Given the description of an element on the screen output the (x, y) to click on. 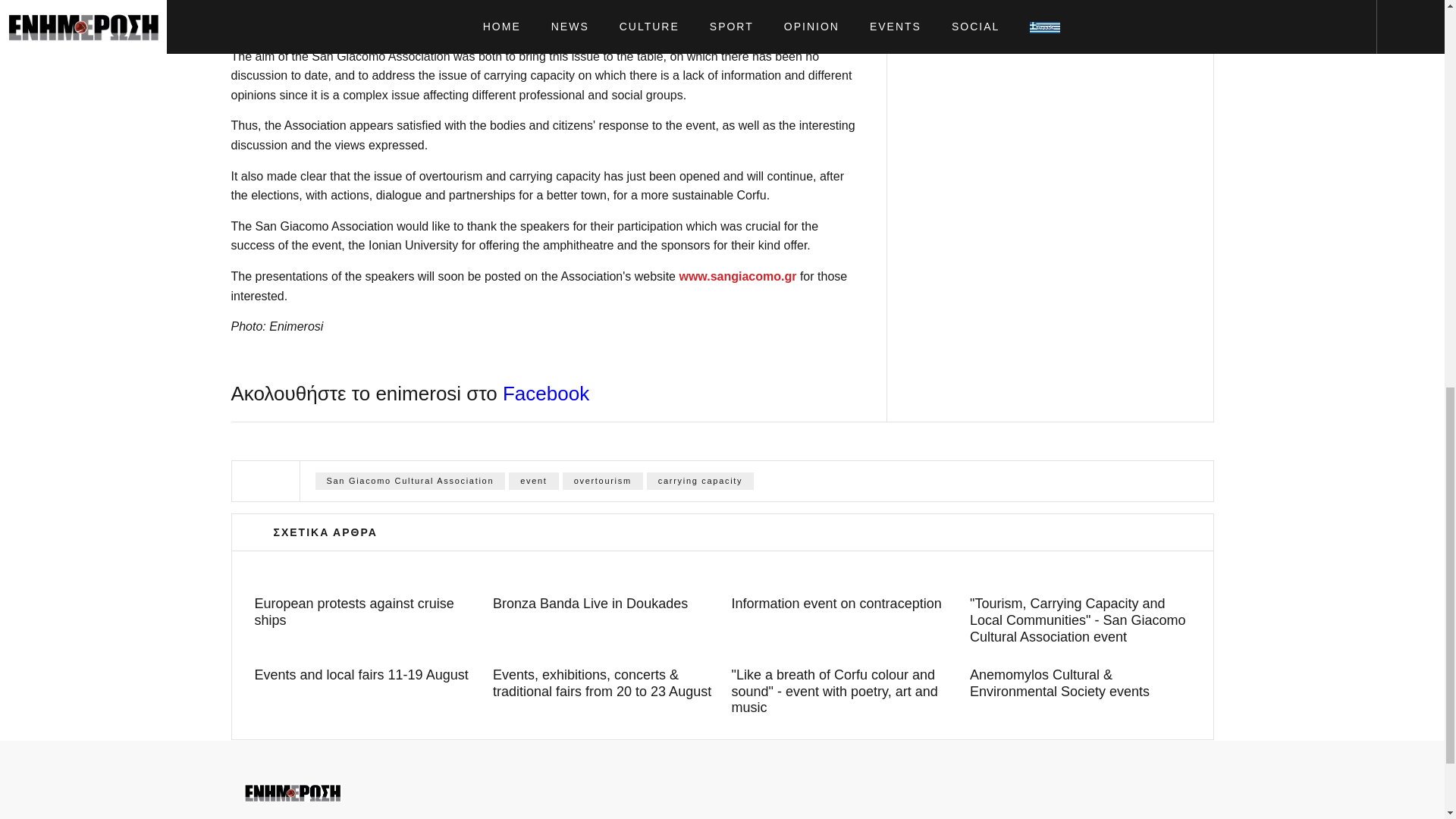
European protests against cruise ships (365, 612)
Facebook (545, 393)
Information event on contraception (841, 604)
event (532, 480)
www.sangiacomo.gr (737, 276)
Bronza Banda Live in Doukades (603, 604)
San Giacomo Cultural Association (410, 480)
carrying capacity (700, 480)
overtourism (602, 480)
